Given the description of an element on the screen output the (x, y) to click on. 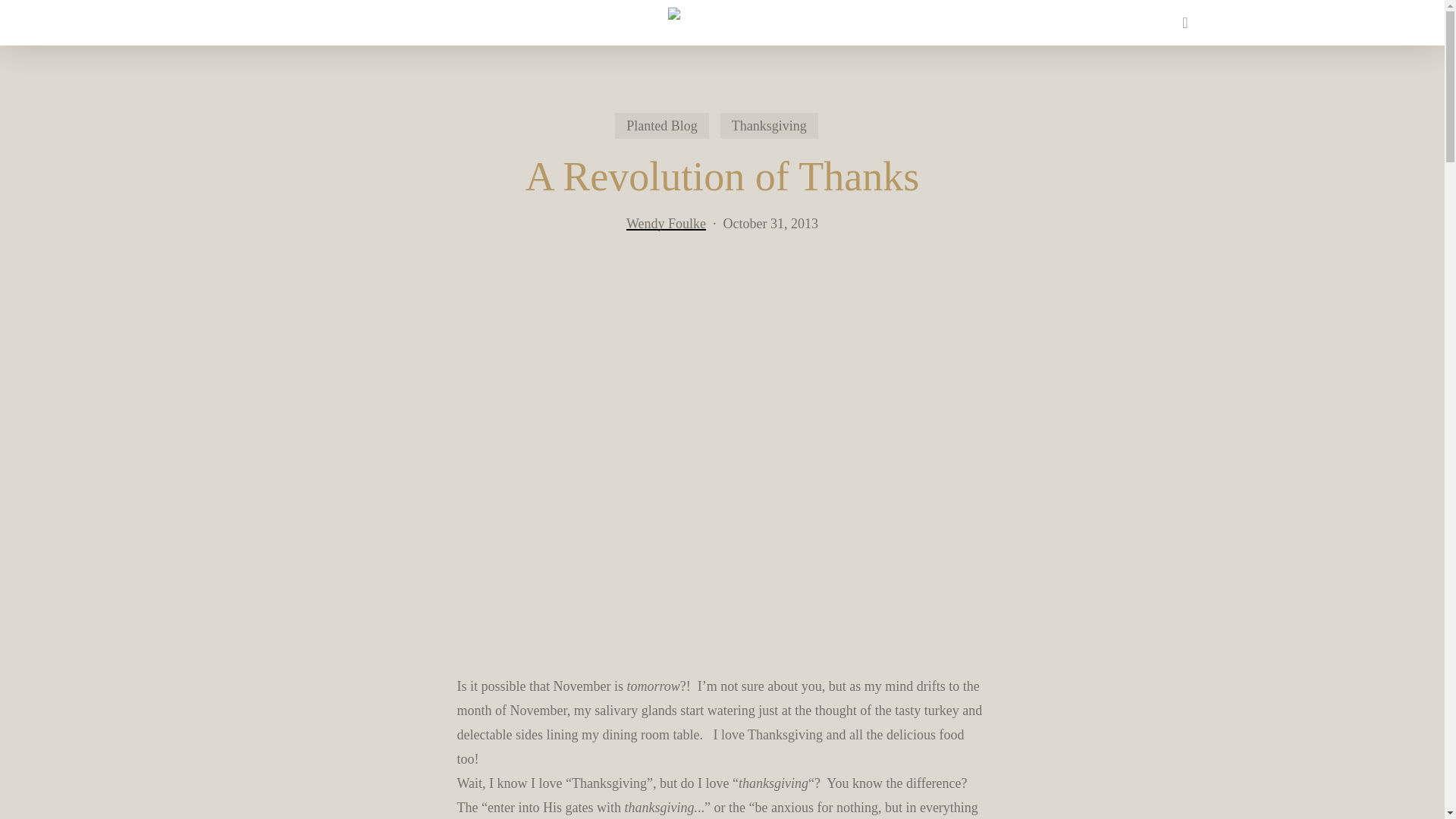
Posts by Wendy Foulke (666, 223)
Wendy Foulke (666, 223)
search (1184, 23)
Thanksgiving (769, 125)
Planted Blog (661, 125)
